Given the description of an element on the screen output the (x, y) to click on. 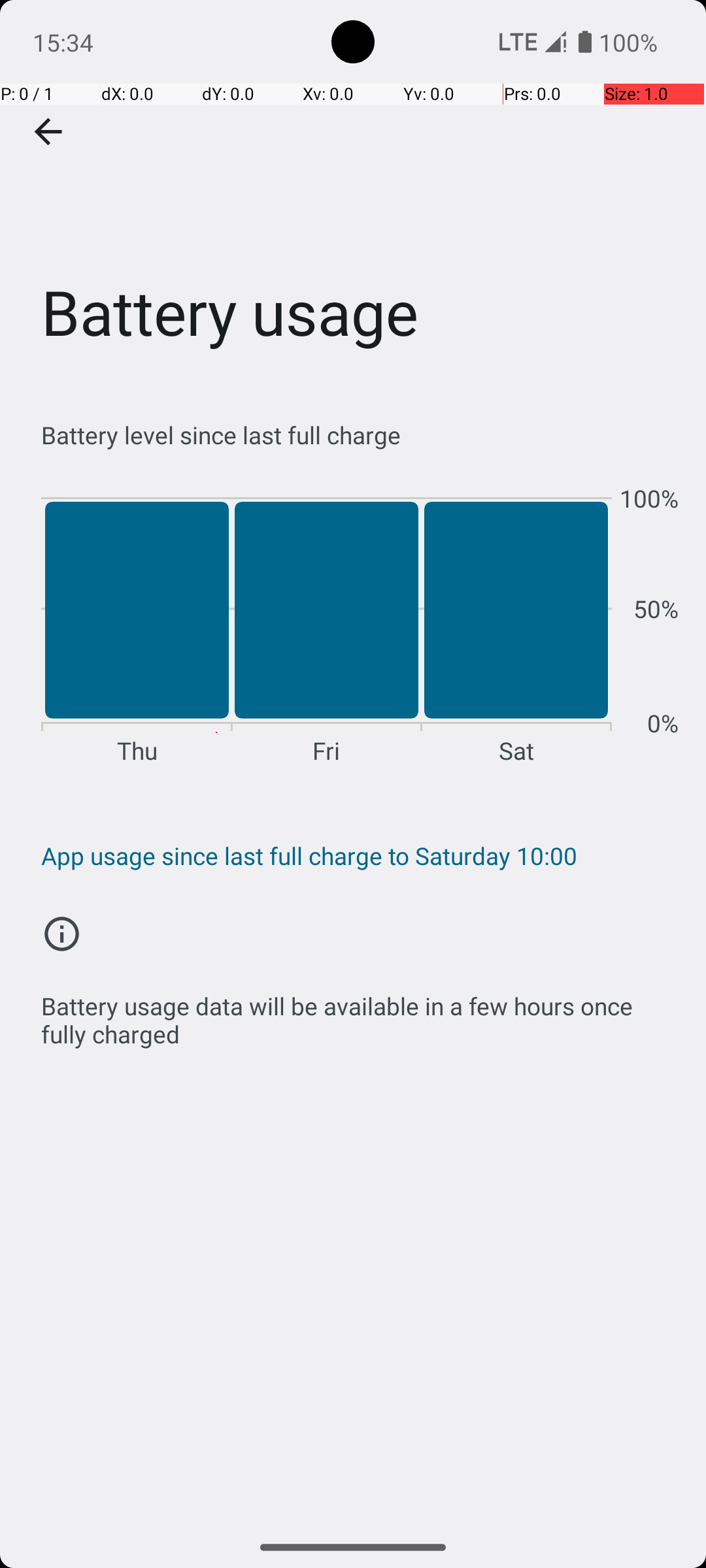
Battery level since last full charge Element type: android.widget.TextView (359, 434)
App usage since last full charge to Saturday 10:00 Element type: android.widget.TextView (359, 855)
Battery usage data will be available in a few hours once fully charged Element type: android.widget.TextView (359, 1012)
Saturday Element type: android.widget.ImageView (515, 624)
